Given the description of an element on the screen output the (x, y) to click on. 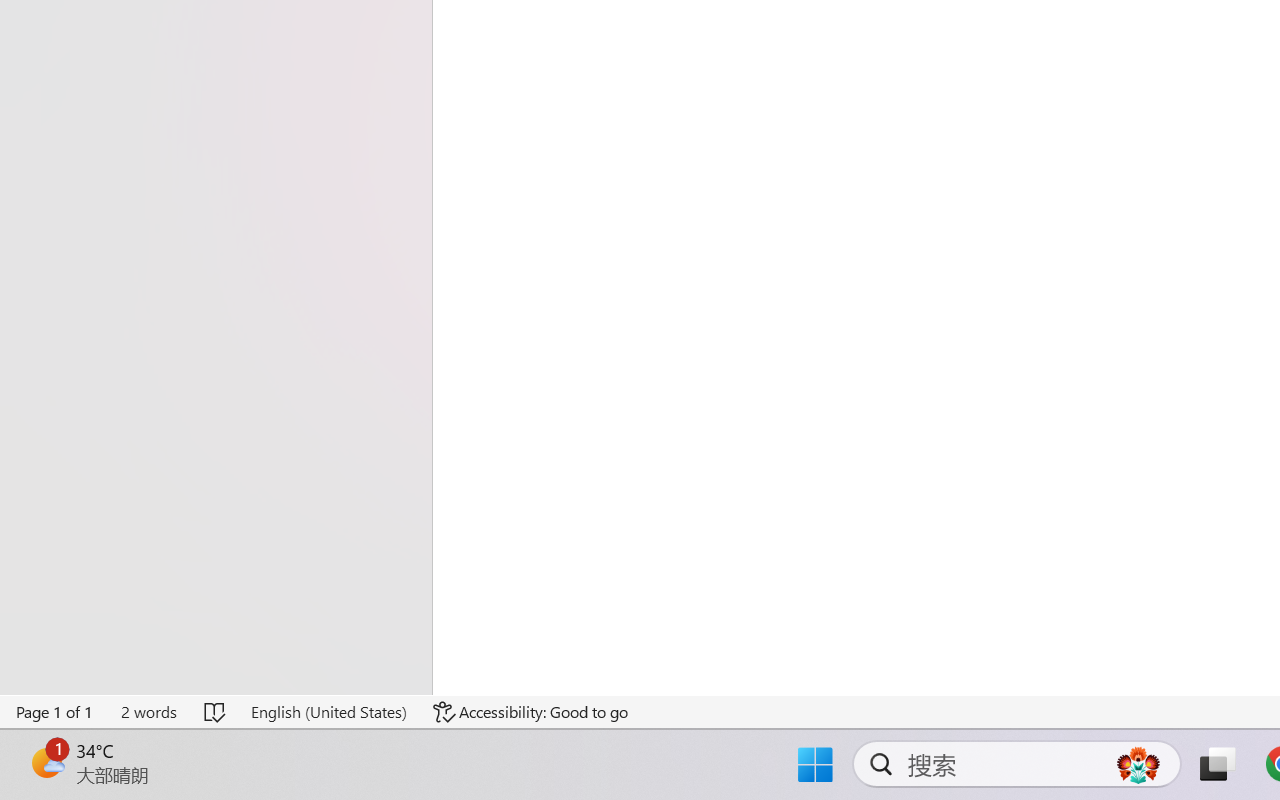
AutomationID: BadgeAnchorLargeTicker (46, 762)
Spelling and Grammar Check No Errors (216, 712)
Accessibility Checker Accessibility: Good to go (531, 712)
AutomationID: DynamicSearchBoxGleamImage (1138, 764)
Language English (United States) (328, 712)
Page Number Page 1 of 1 (55, 712)
